Given the description of an element on the screen output the (x, y) to click on. 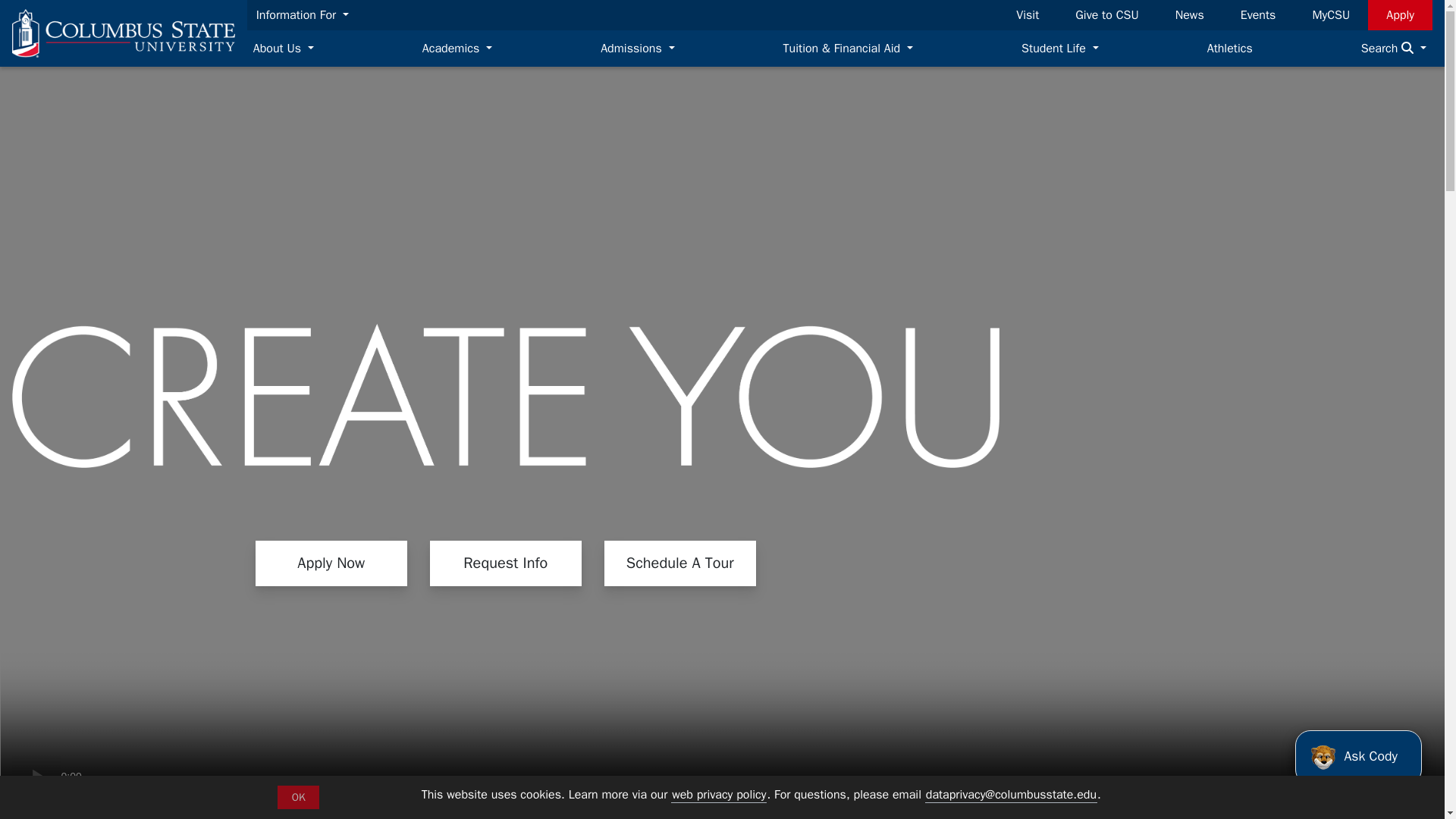
News (1189, 15)
Give to CSU (1106, 15)
MyCSU (1330, 15)
Visit (1027, 15)
Columbus State University (122, 32)
Apply (1400, 15)
Events (1258, 15)
OK (298, 797)
web privacy policy (719, 795)
Information For (302, 15)
